Given the description of an element on the screen output the (x, y) to click on. 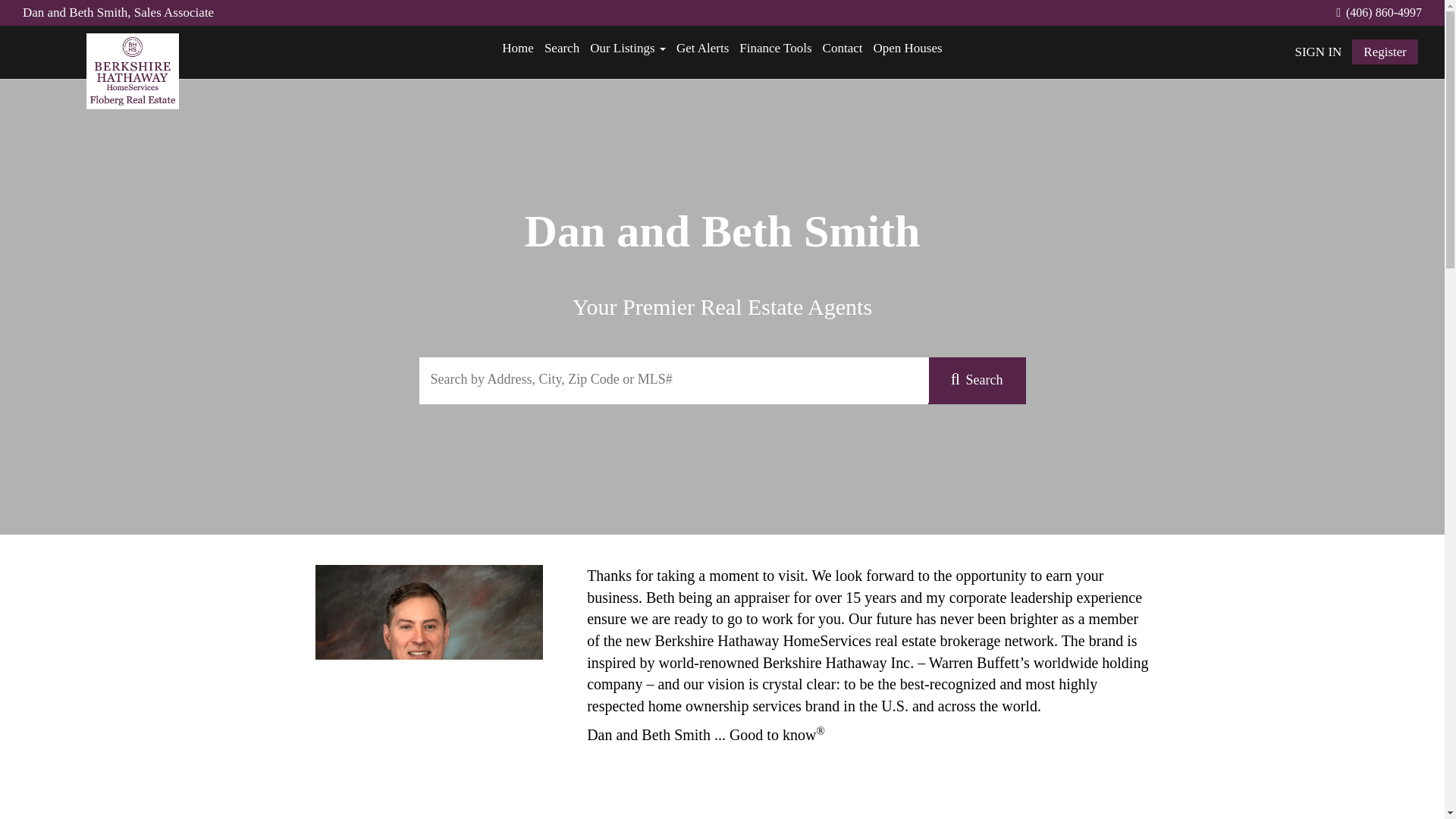
Get Alerts (702, 48)
Find the perfect home, schedule showing times and more! (628, 48)
Our Listings (628, 48)
Open Houses (907, 48)
Find the right Agent, Mortgage or Title Officer for you. (702, 48)
Open Houses (907, 48)
Finance Tools (774, 48)
Find the right Agent, Mortgage or Title Officer for you. (774, 48)
Contact (841, 48)
Search (561, 48)
